Given the description of an element on the screen output the (x, y) to click on. 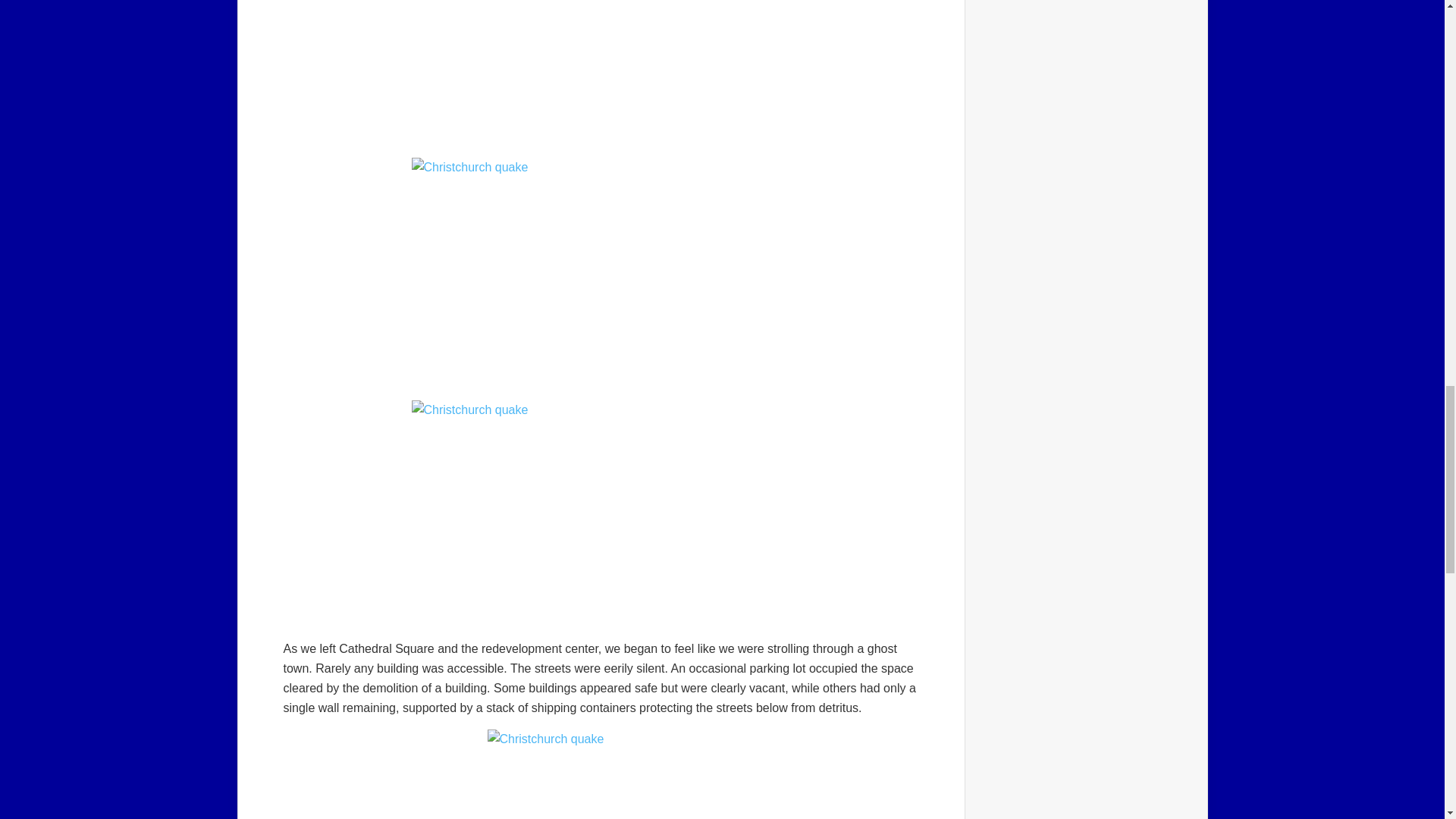
Container city (600, 71)
Only a wall remains (600, 774)
Decorated fencing (600, 514)
Abandoned building (600, 271)
